Given the description of an element on the screen output the (x, y) to click on. 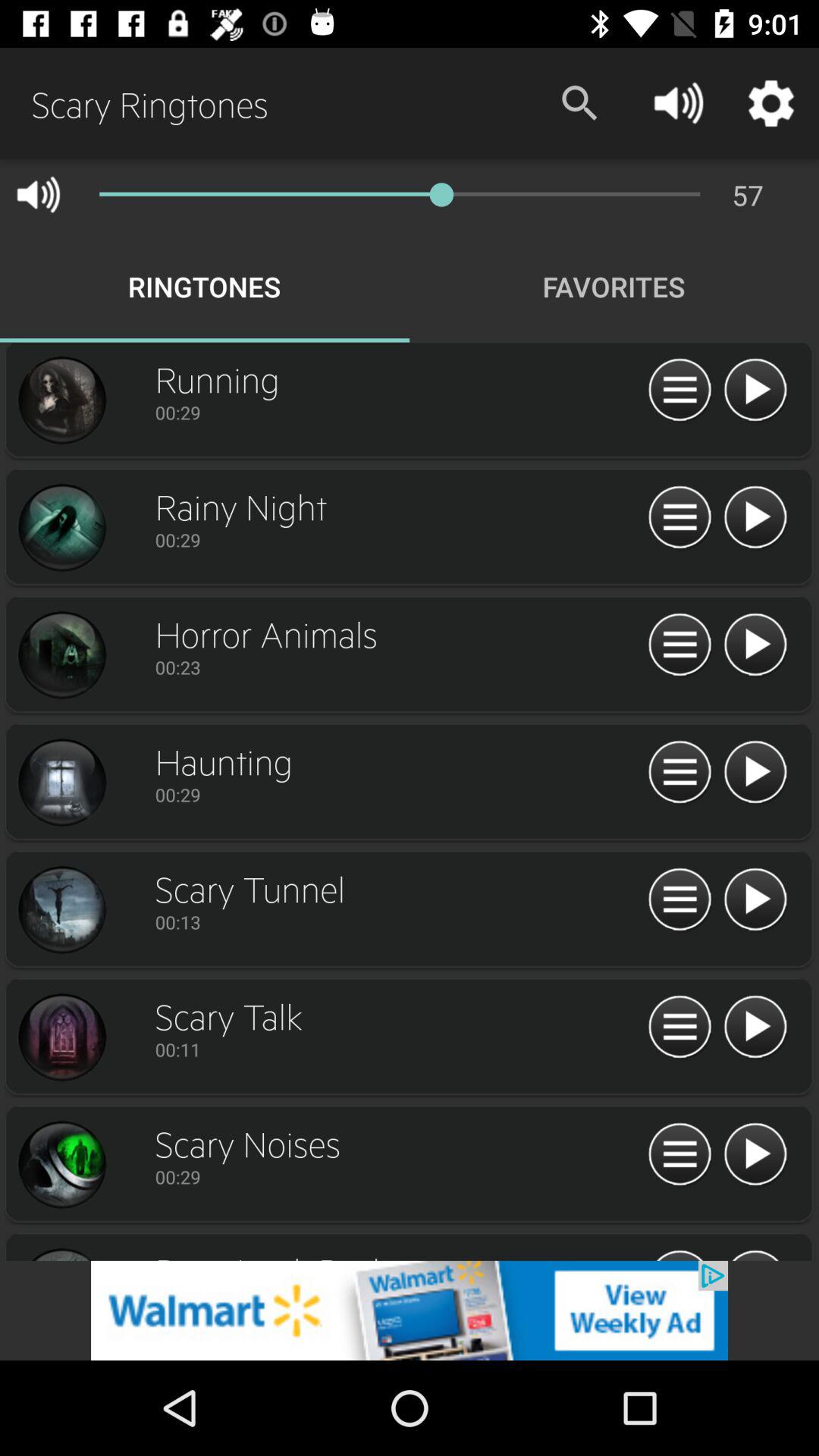
open an advertised app (409, 1310)
